Given the description of an element on the screen output the (x, y) to click on. 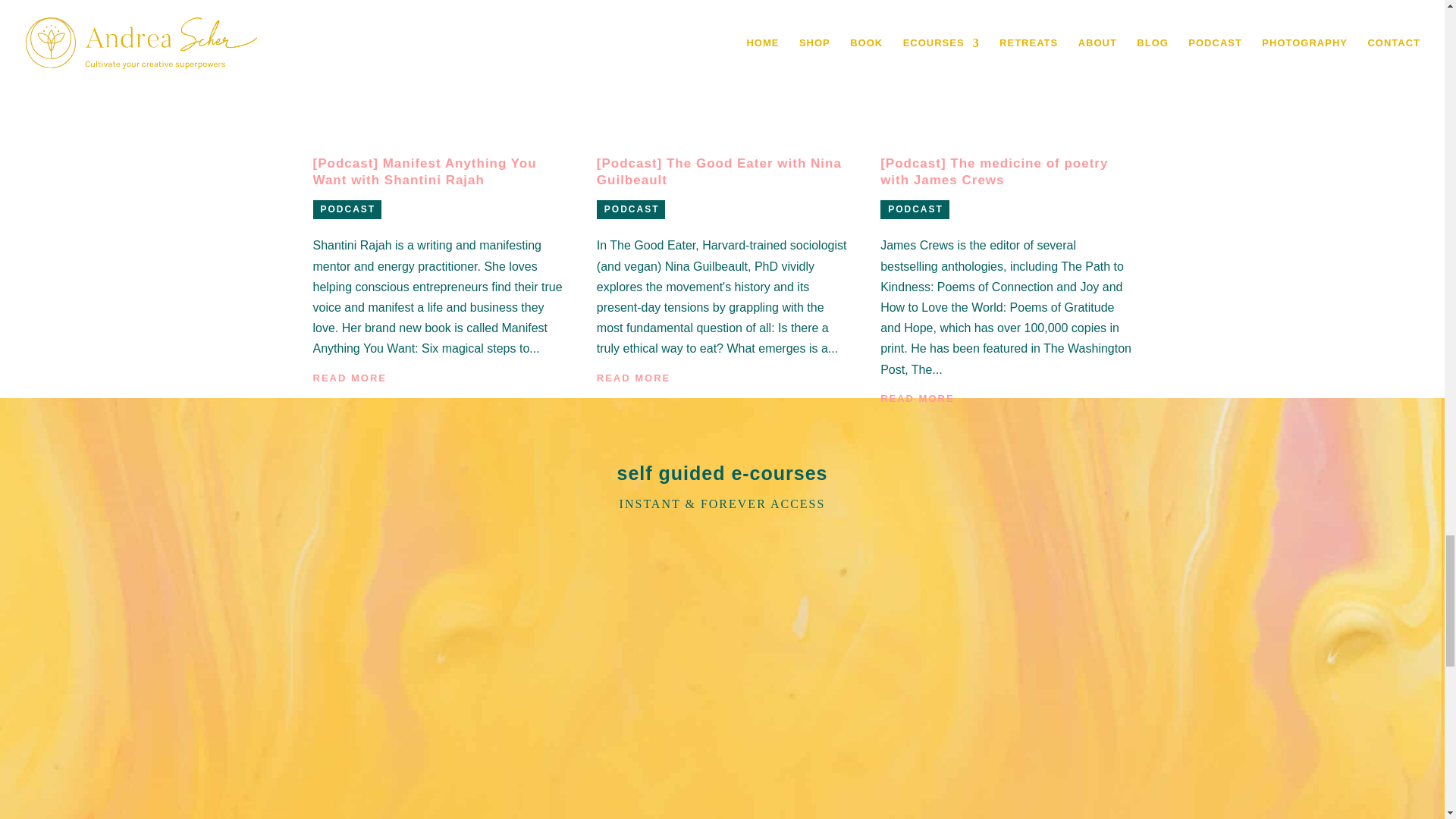
PODCAST (347, 209)
READ MORE (349, 378)
